Given the description of an element on the screen output the (x, y) to click on. 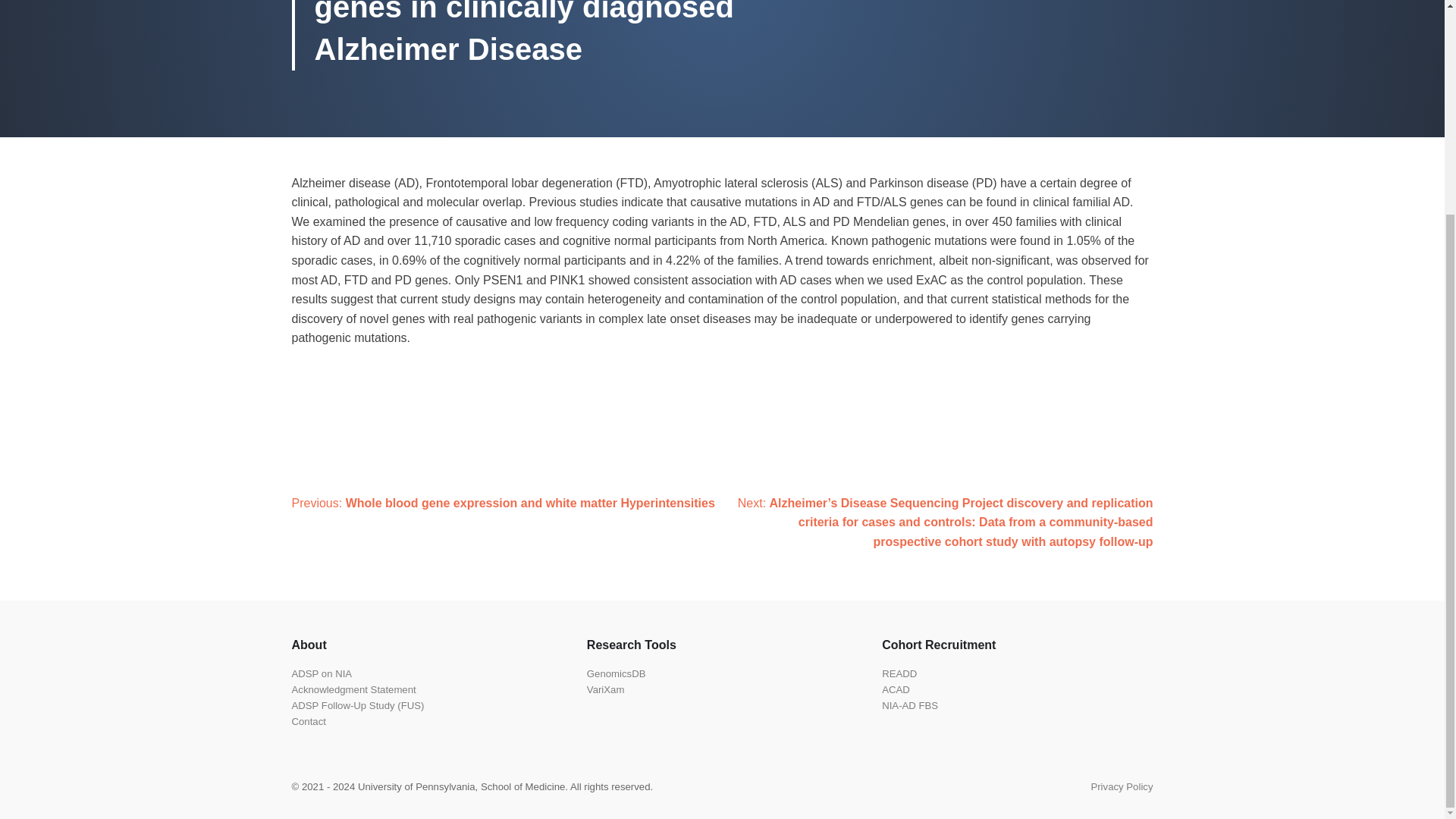
ADSP on NIA (321, 673)
Acknowledgment Statement (352, 689)
